Given the description of an element on the screen output the (x, y) to click on. 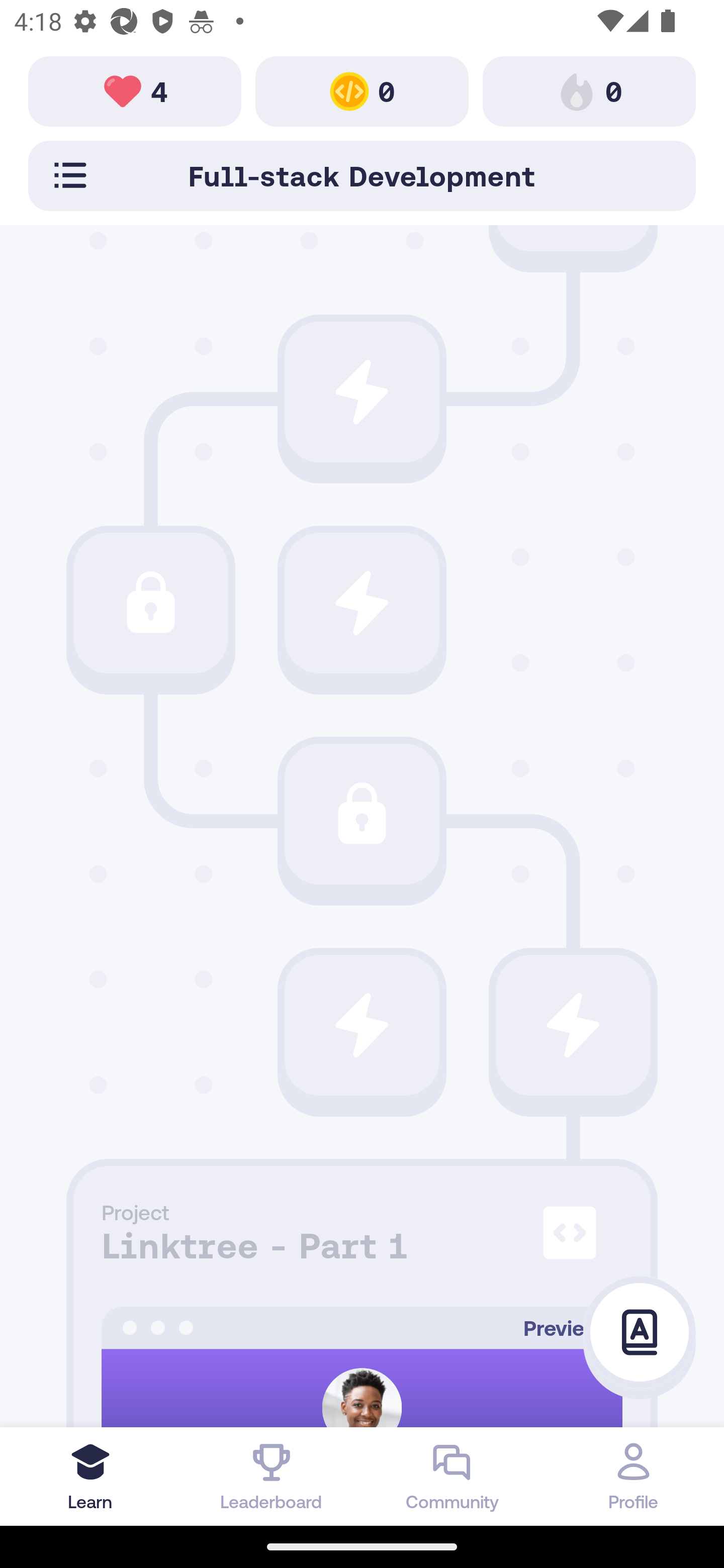
Path Toolbar Image 4 (134, 90)
Path Toolbar Image 0 (361, 90)
Path Toolbar Image 0 (588, 90)
Path Toolbar Selector Full-stack Development (361, 175)
Path Icon (361, 391)
Path Icon (150, 602)
Path Icon (361, 602)
Path Icon (361, 813)
Path Icon (361, 1025)
Path Icon (572, 1025)
Glossary Icon (639, 1332)
Leaderboard (271, 1475)
Community (452, 1475)
Profile (633, 1475)
